Given the description of an element on the screen output the (x, y) to click on. 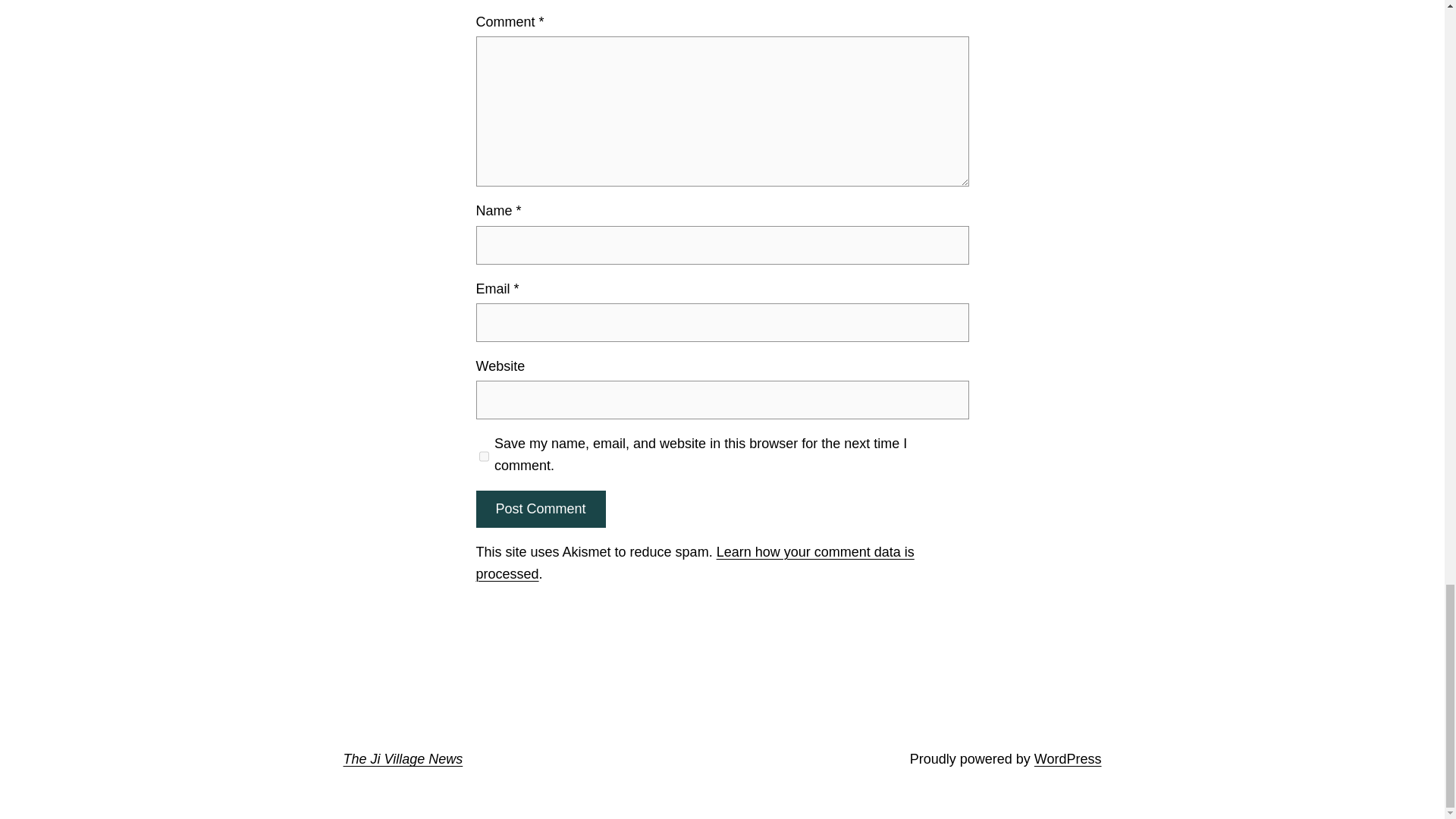
Post Comment (540, 508)
WordPress (1067, 758)
The Ji Village News (402, 758)
Learn how your comment data is processed (695, 562)
Post Comment (540, 508)
